Given the description of an element on the screen output the (x, y) to click on. 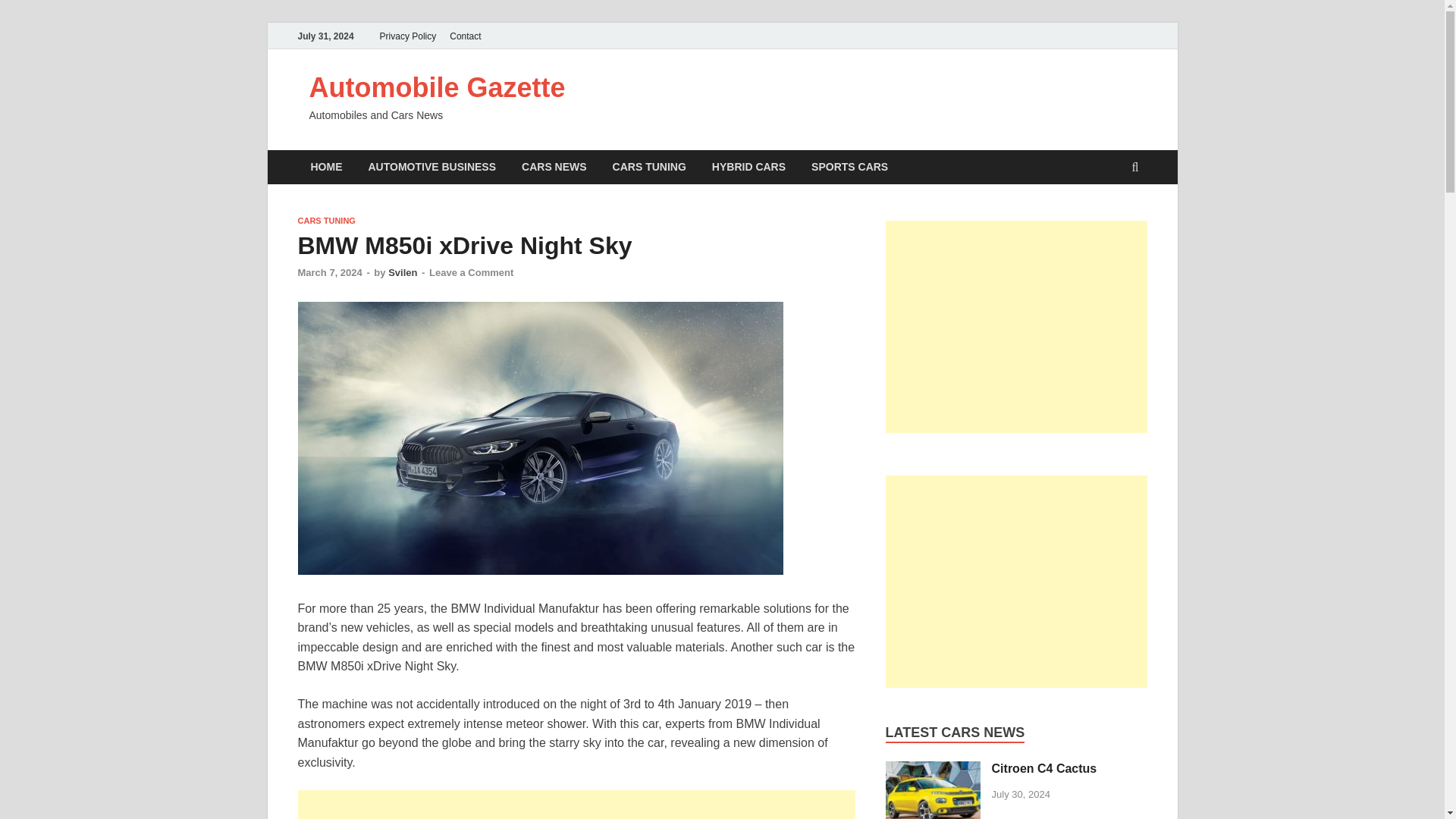
Leave a Comment (471, 272)
Contact (464, 35)
HYBRID CARS (747, 166)
Svilen (402, 272)
SPORTS CARS (849, 166)
Advertisement (1016, 326)
Privacy Policy (408, 35)
Advertisement (575, 804)
HOME (326, 166)
CARS TUNING (648, 166)
